Given the description of an element on the screen output the (x, y) to click on. 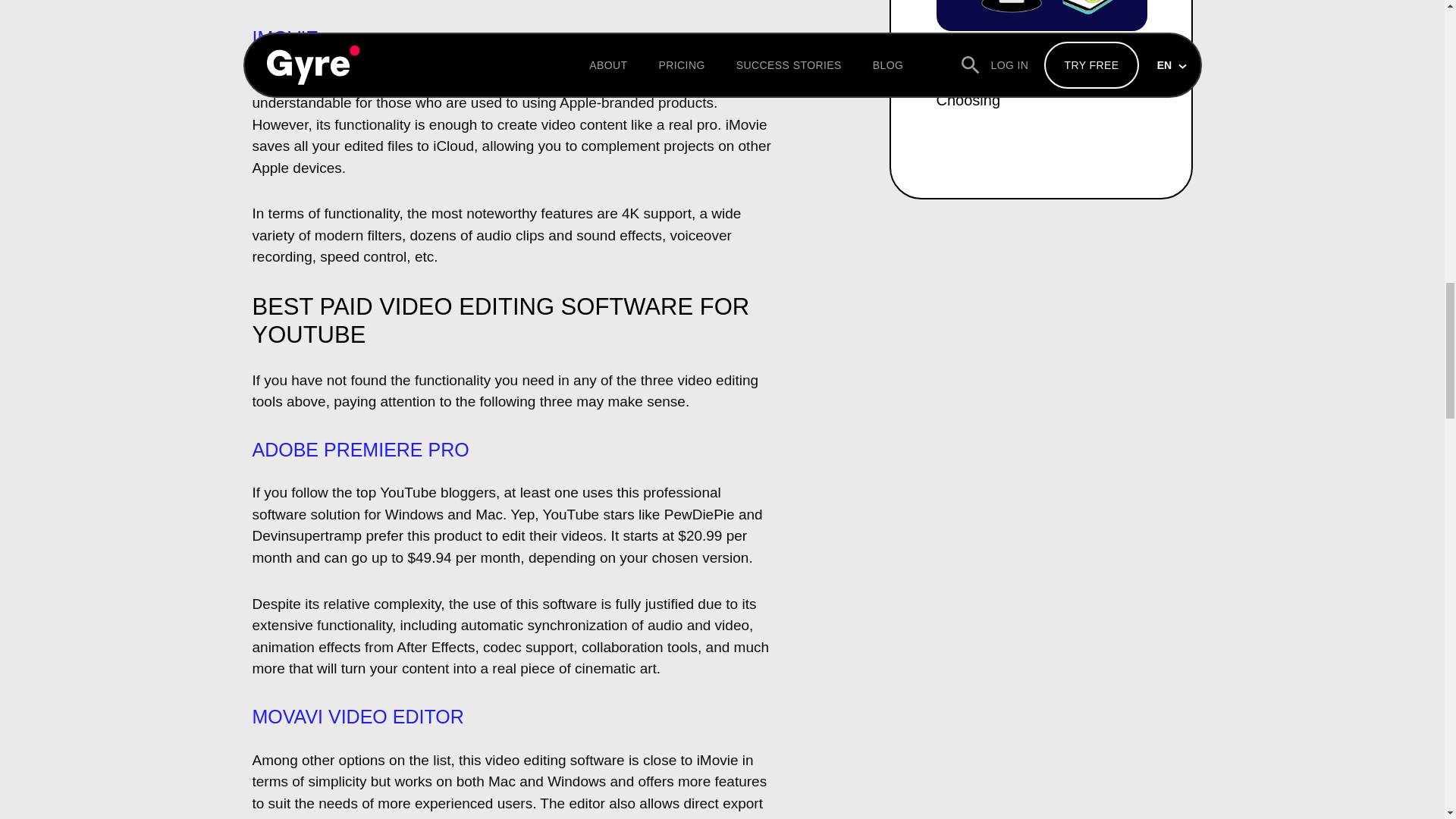
ADOBE PREMIERE PRO (359, 449)
MOVAVI VIDEO EDITOR (357, 716)
HD vs. SD vs. 4K Streaming: What to Consider When Choosing (1041, 58)
IMOVIE (284, 37)
